Given the description of an element on the screen output the (x, y) to click on. 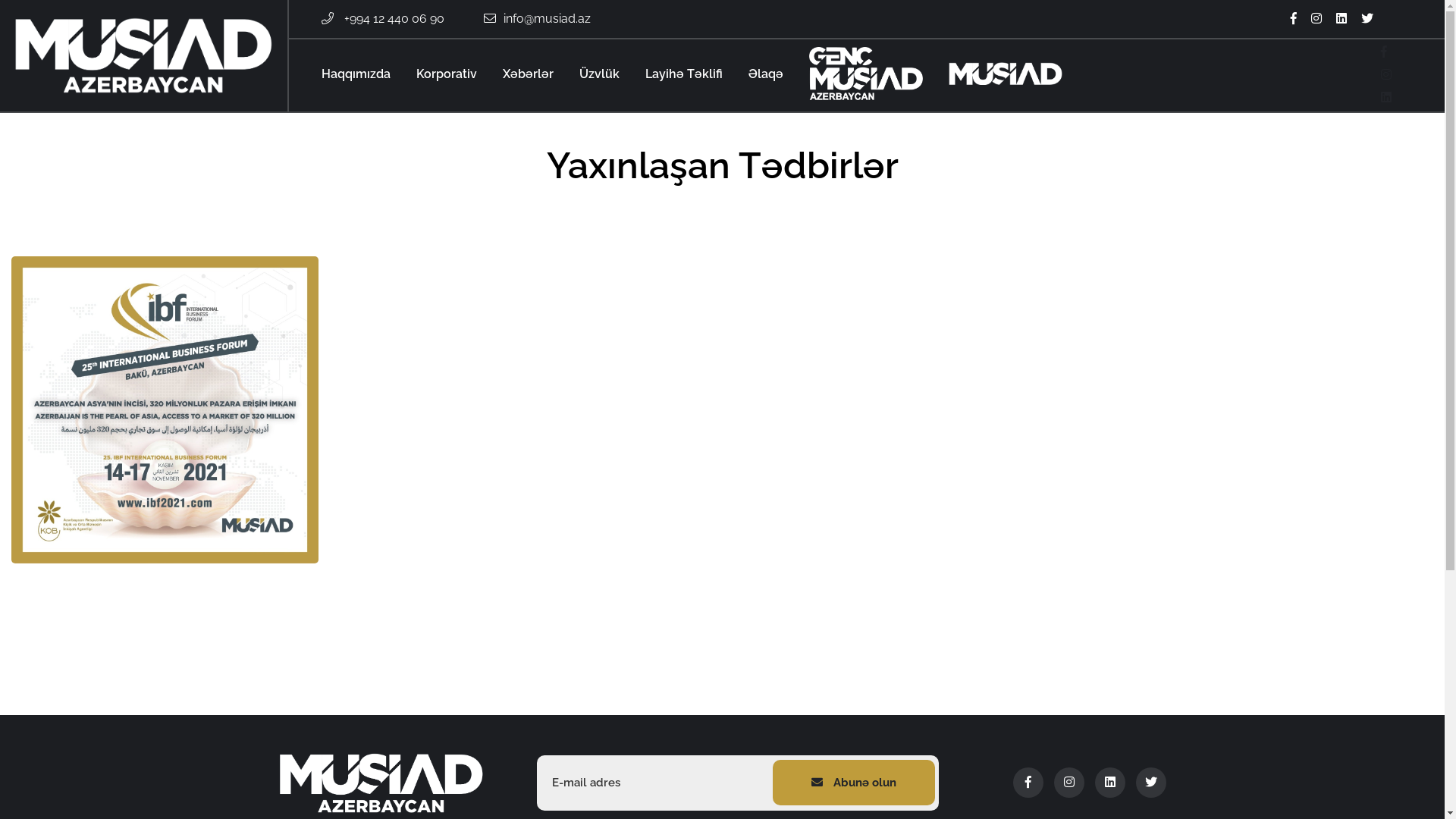
info@musiad.az Element type: text (546, 18)
+994 12 440 06 90 Element type: text (394, 18)
Korporativ Element type: text (446, 73)
